Given the description of an element on the screen output the (x, y) to click on. 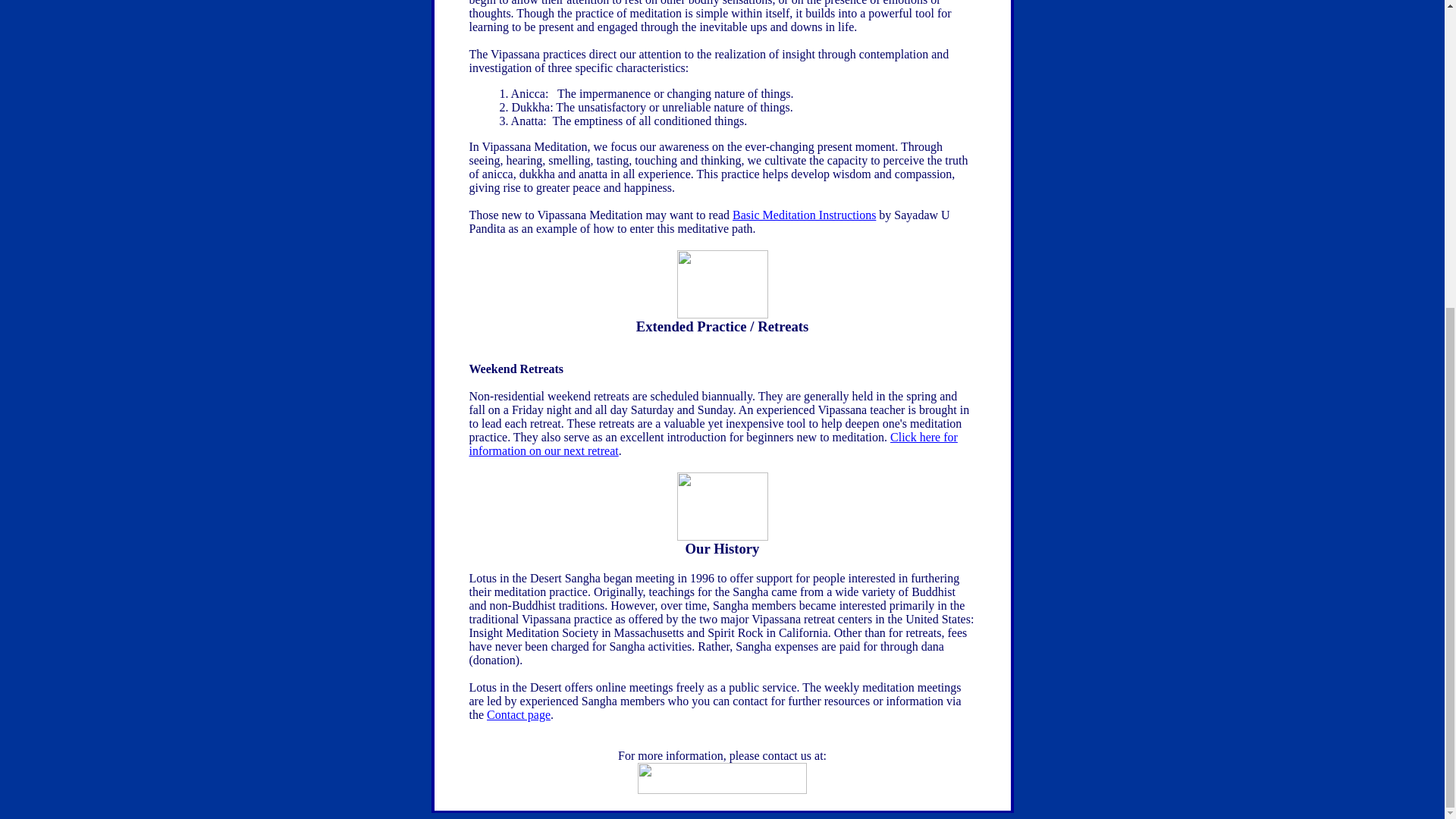
Click here for information on our next retreat (712, 443)
Contact page (518, 714)
Basic Meditation Instructions (804, 214)
